Given the description of an element on the screen output the (x, y) to click on. 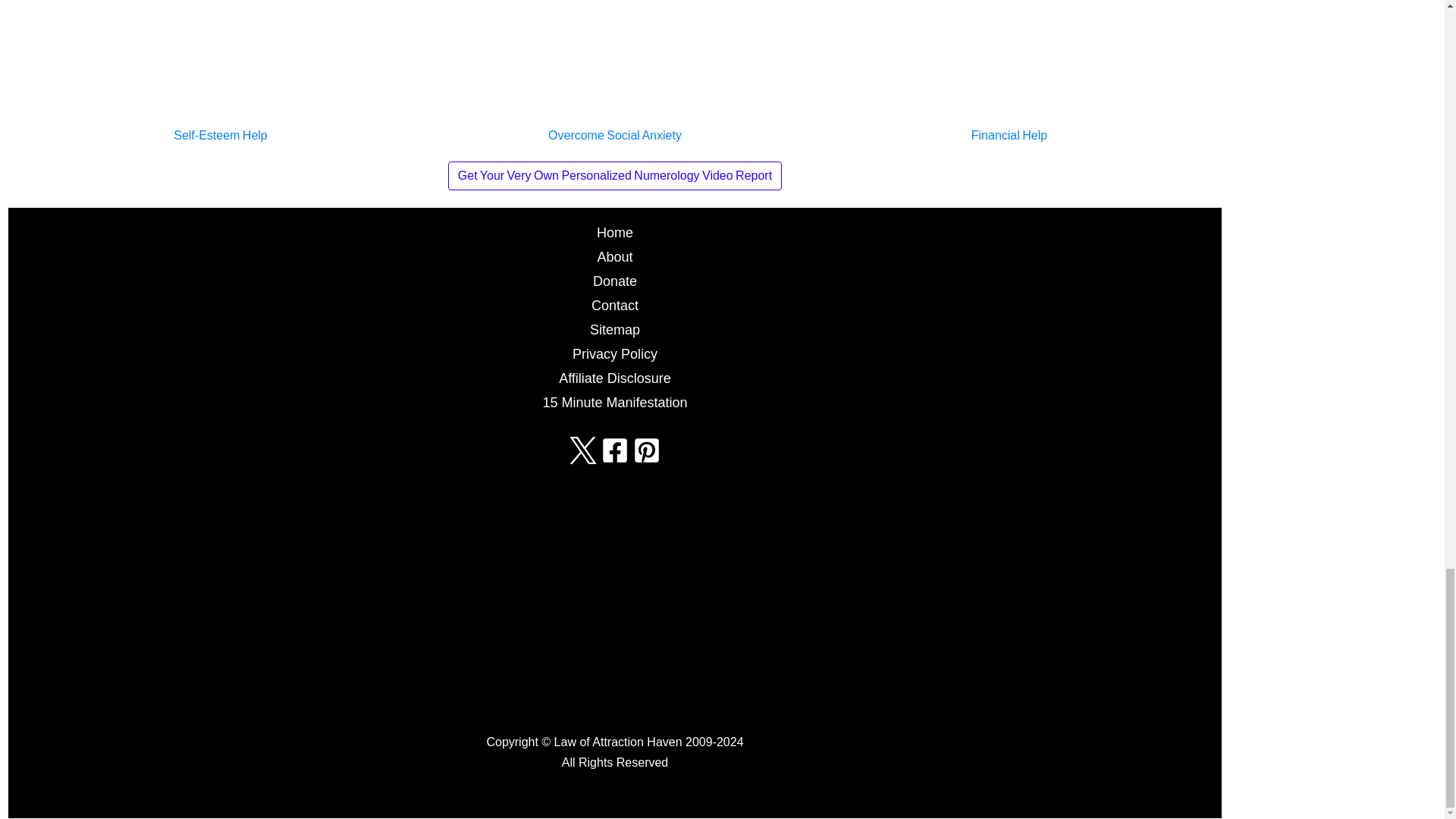
Personal Finance Hypnosis Sessions (1008, 59)
Overcome Social Anxiety (614, 59)
Improve Your Self-Esteem (220, 59)
